Given the description of an element on the screen output the (x, y) to click on. 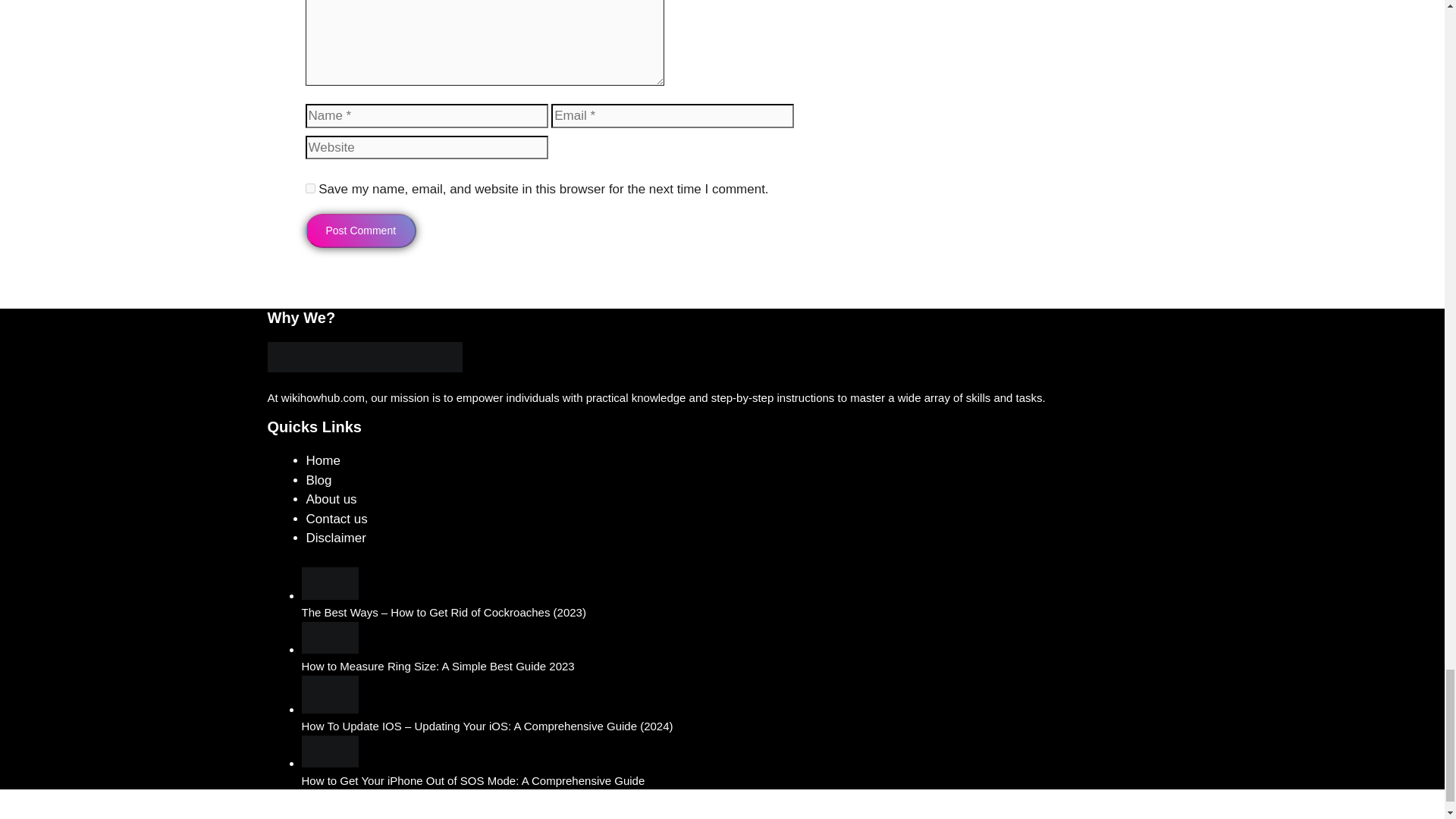
yes (309, 188)
Post Comment (360, 230)
